Given the description of an element on the screen output the (x, y) to click on. 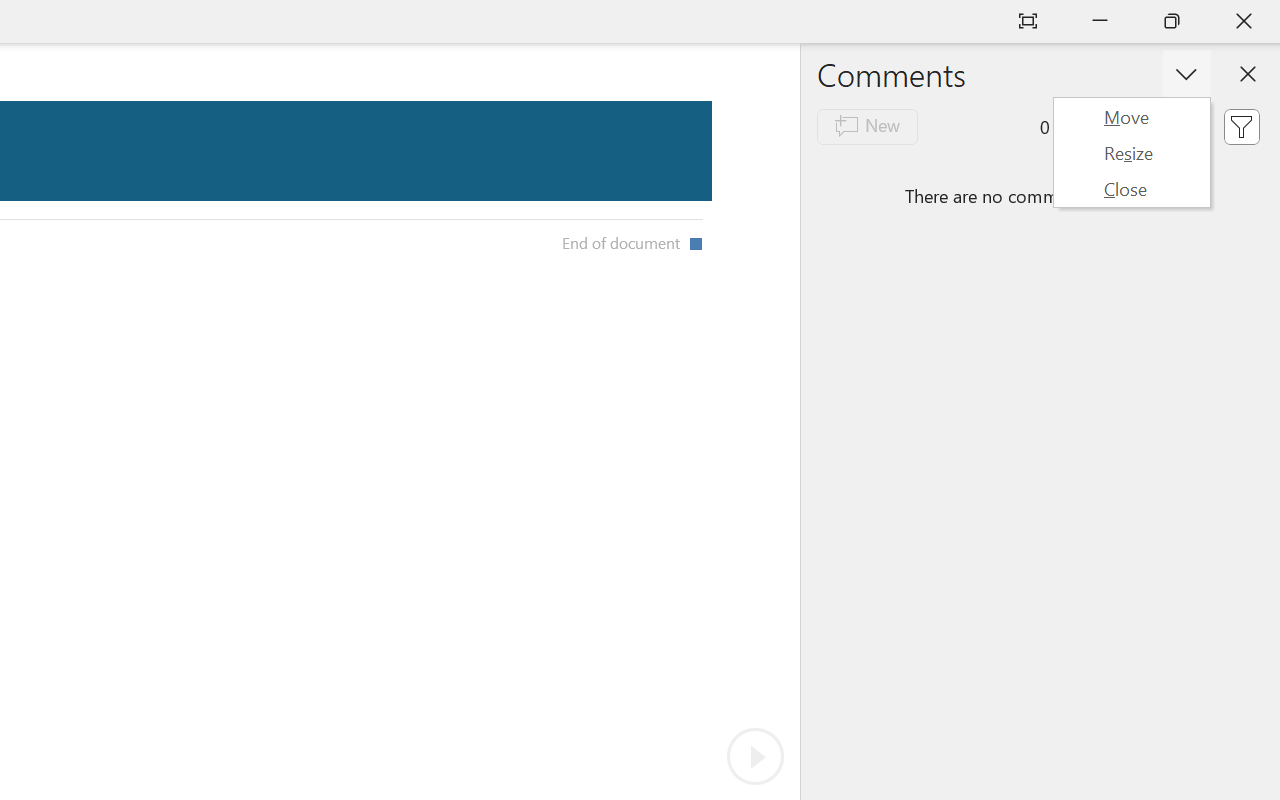
Sign in - Google Accounts (278, 22)
Sign in - Google Accounts (934, 22)
Subscriptions - YouTube (115, 22)
Expand All (459, 752)
Trusted Information and Content - Google Safety Center (606, 22)
Google Cybersecurity Innovations - Google Safety Center (852, 22)
New Tab (1016, 22)
